Given the description of an element on the screen output the (x, y) to click on. 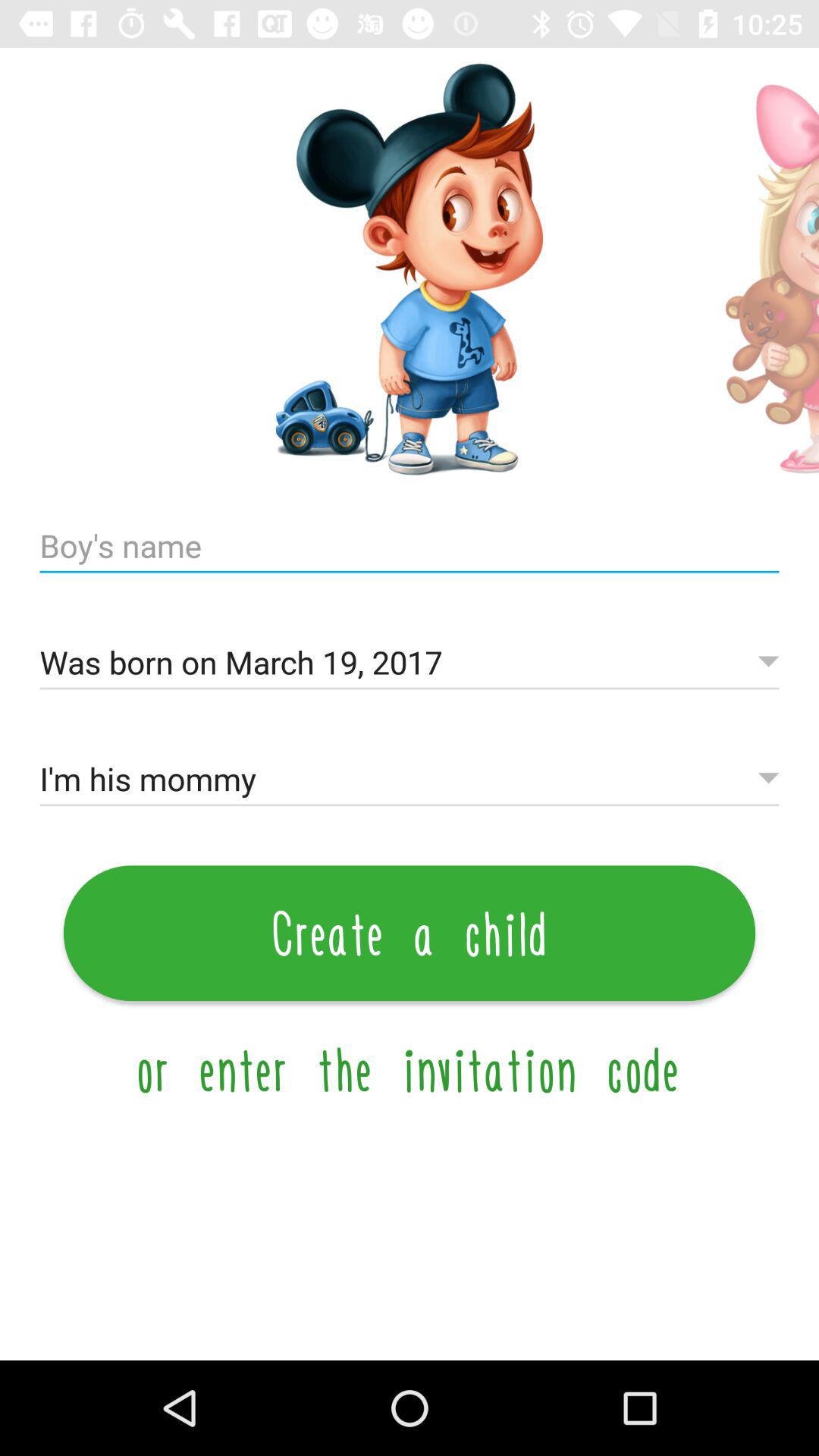
open item below create a child icon (409, 1068)
